Given the description of an element on the screen output the (x, y) to click on. 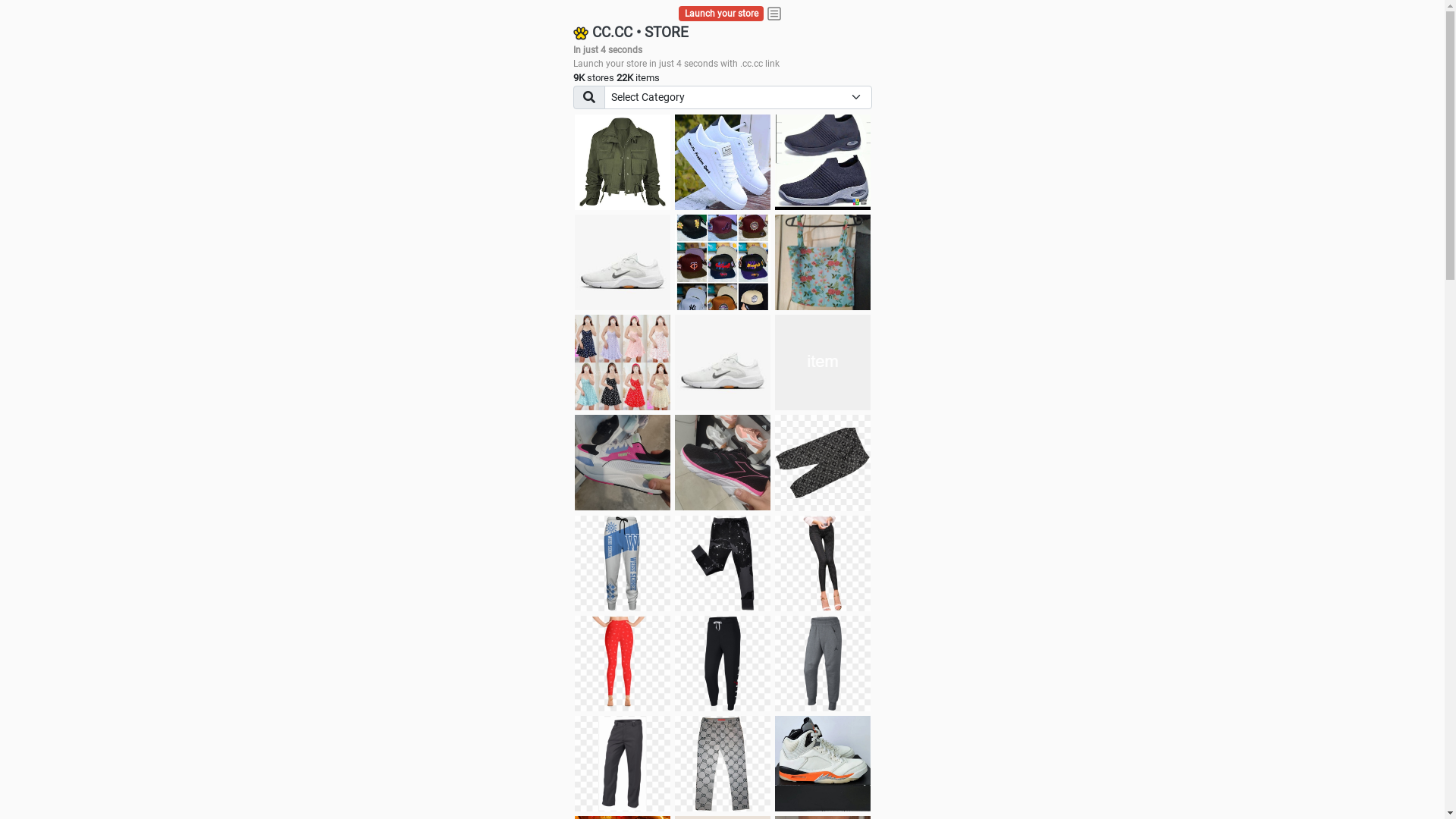
Shoes for boys Element type: hover (622, 262)
Dress/square nect top Element type: hover (622, 362)
Pant Element type: hover (822, 563)
Pant Element type: hover (722, 563)
Zapatillas Element type: hover (722, 462)
Short pant Element type: hover (822, 462)
Pant Element type: hover (722, 663)
Pant Element type: hover (622, 563)
white shoes Element type: hover (722, 162)
Zapatillas pumas Element type: hover (622, 462)
Things we need Element type: hover (722, 262)
Pant Element type: hover (622, 763)
Pant Element type: hover (822, 663)
jacket Element type: hover (622, 162)
Pant Element type: hover (622, 663)
Launch your store Element type: text (721, 13)
shoes for boys Element type: hover (822, 162)
Shoe Element type: hover (822, 763)
Ukay cloth Element type: hover (822, 262)
Pant Element type: hover (722, 763)
Shoes Element type: hover (722, 362)
